Given the description of an element on the screen output the (x, y) to click on. 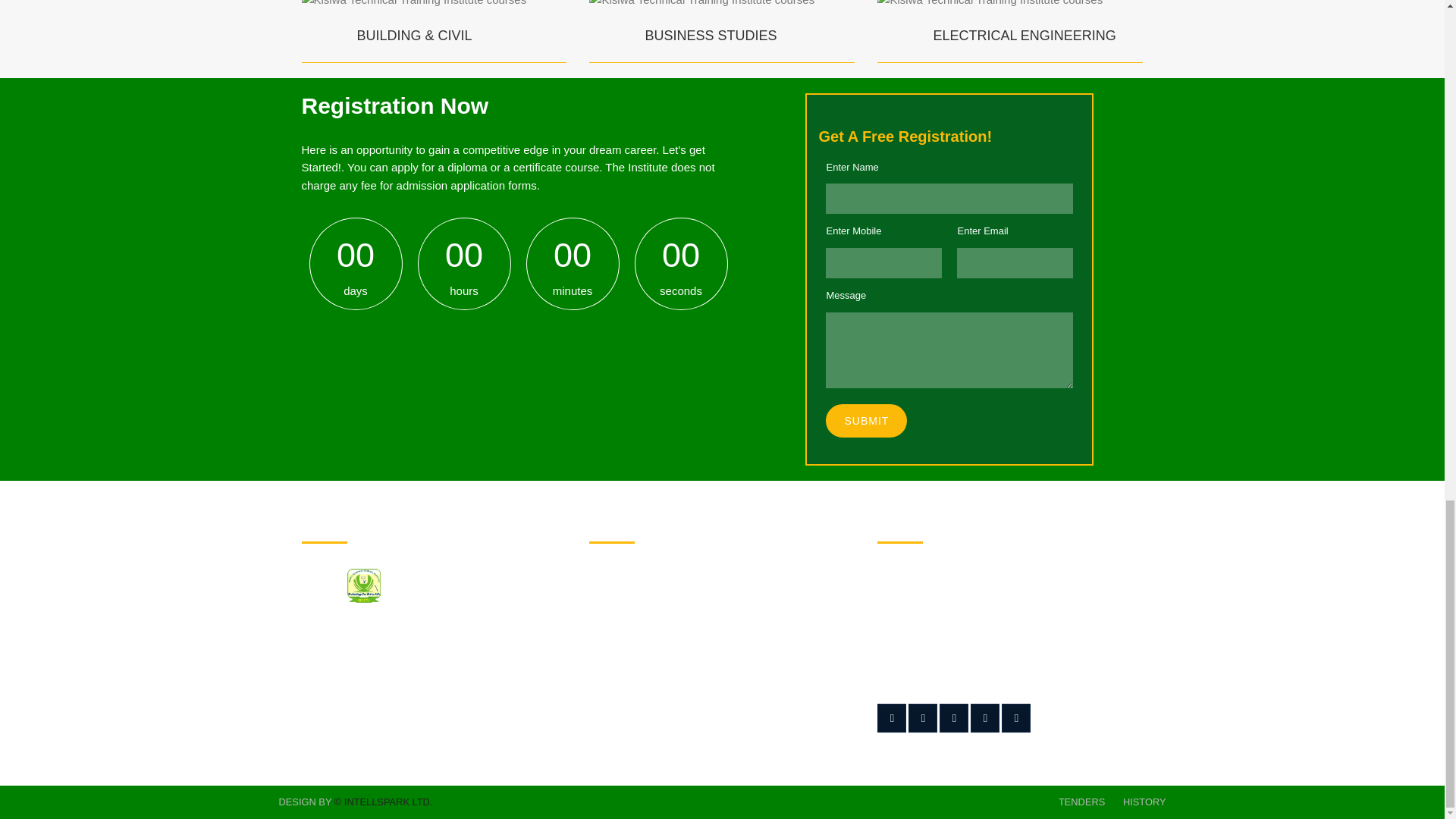
Tenders (618, 604)
Downloads (626, 577)
Gallery (749, 640)
ELECTRICAL ENGINEERING (1024, 35)
Student Portal (767, 577)
About Kisiwa (631, 631)
Vacancies (757, 604)
SUBMIT (866, 420)
BUSINESS STUDIES (710, 35)
